Given the description of an element on the screen output the (x, y) to click on. 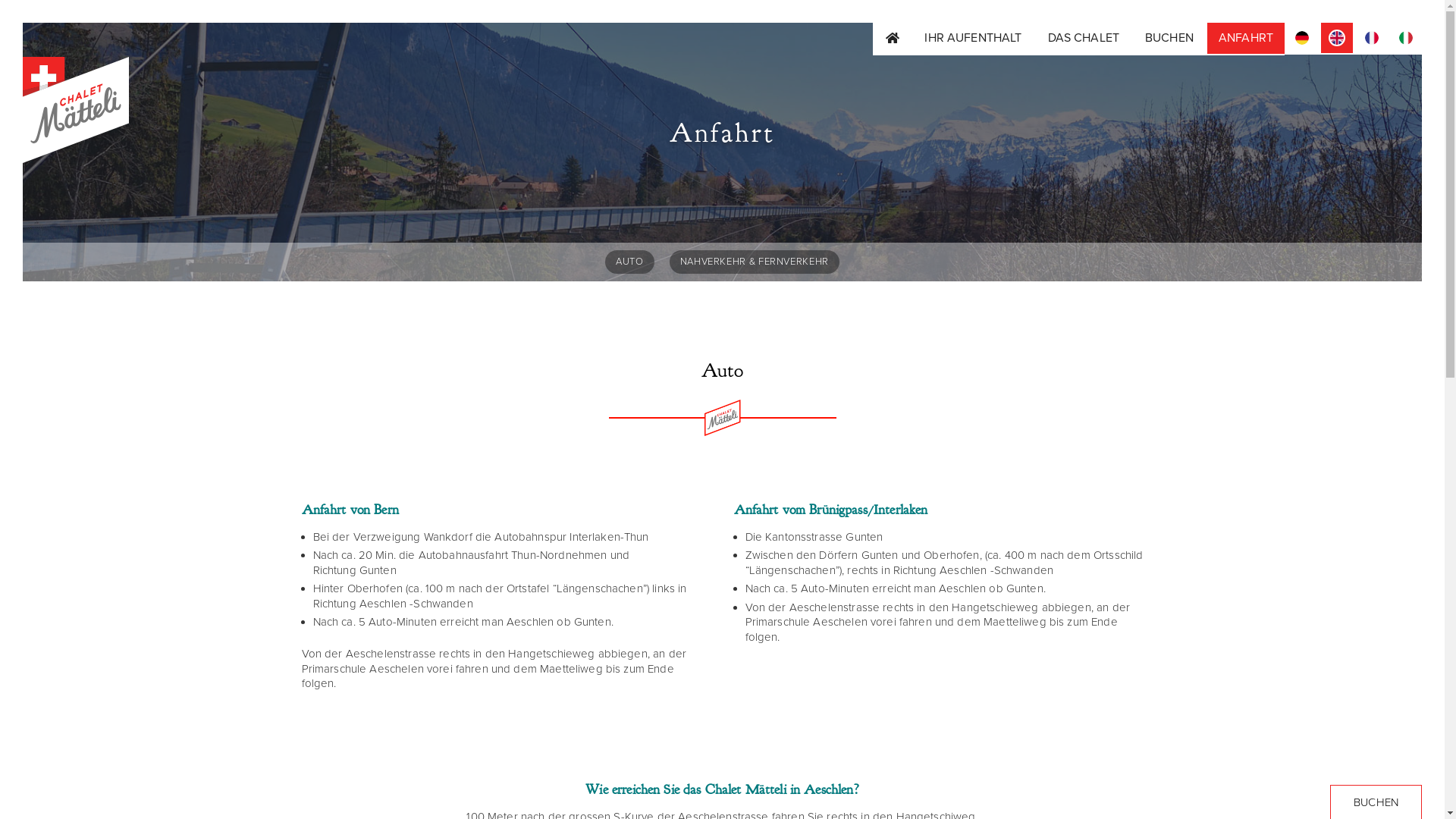
French Element type: hover (1371, 38)
IHR AUFENTHALT Element type: text (972, 38)
BUCHEN Element type: text (1169, 38)
Italian Element type: hover (1405, 38)
ANFAHRT Element type: text (1245, 38)
English Element type: hover (1336, 38)
AUTO Element type: text (629, 261)
Skip to content Element type: text (22, 22)
NAHVERKEHR & FERNVERKEHR Element type: text (754, 261)
CHALET MATTELI Element type: text (85, 196)
DAS CHALET Element type: text (1083, 38)
HOME Element type: text (892, 38)
German Element type: hover (1301, 38)
